Given the description of an element on the screen output the (x, y) to click on. 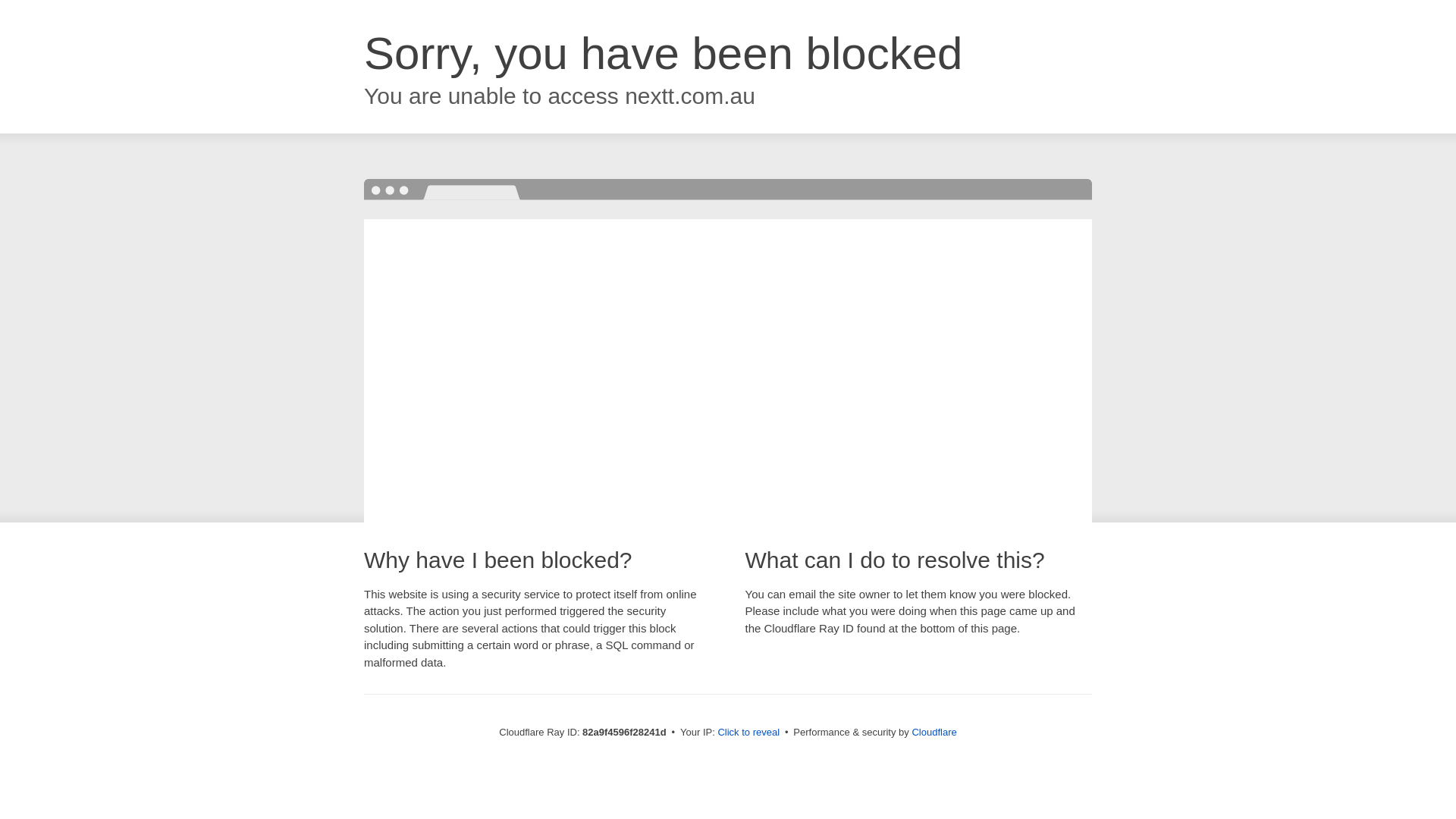
Cloudflare Element type: text (933, 731)
Click to reveal Element type: text (748, 732)
